Given the description of an element on the screen output the (x, y) to click on. 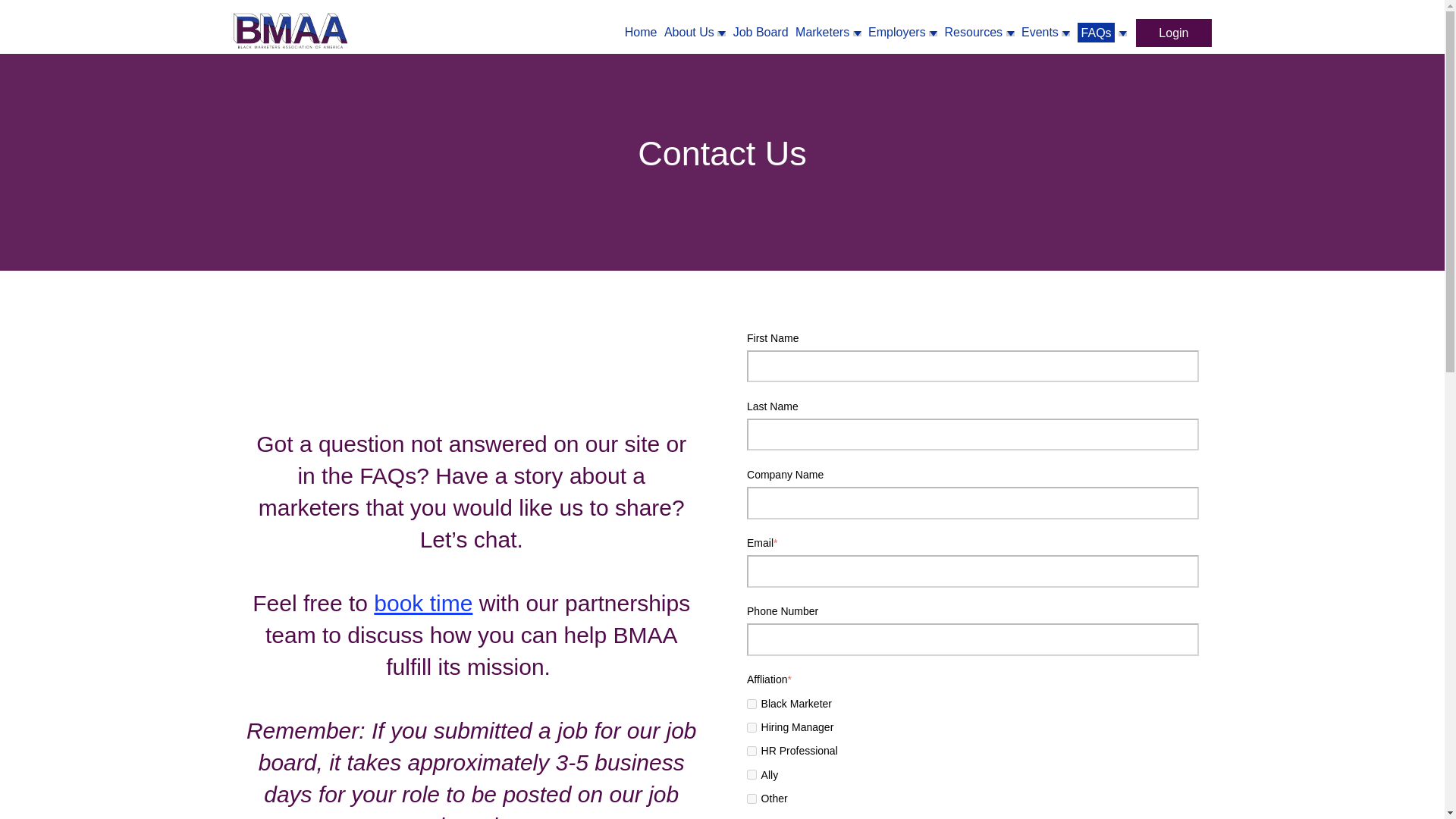
About Us (688, 31)
Show submenu for Events (1065, 33)
Show submenu for Marketers (857, 33)
BMAA Logo (289, 30)
Employers (896, 31)
Marketers (821, 31)
Home (641, 31)
Show submenu for Employers (932, 33)
Job Board (761, 31)
Show submenu for Resources (1009, 33)
